Given the description of an element on the screen output the (x, y) to click on. 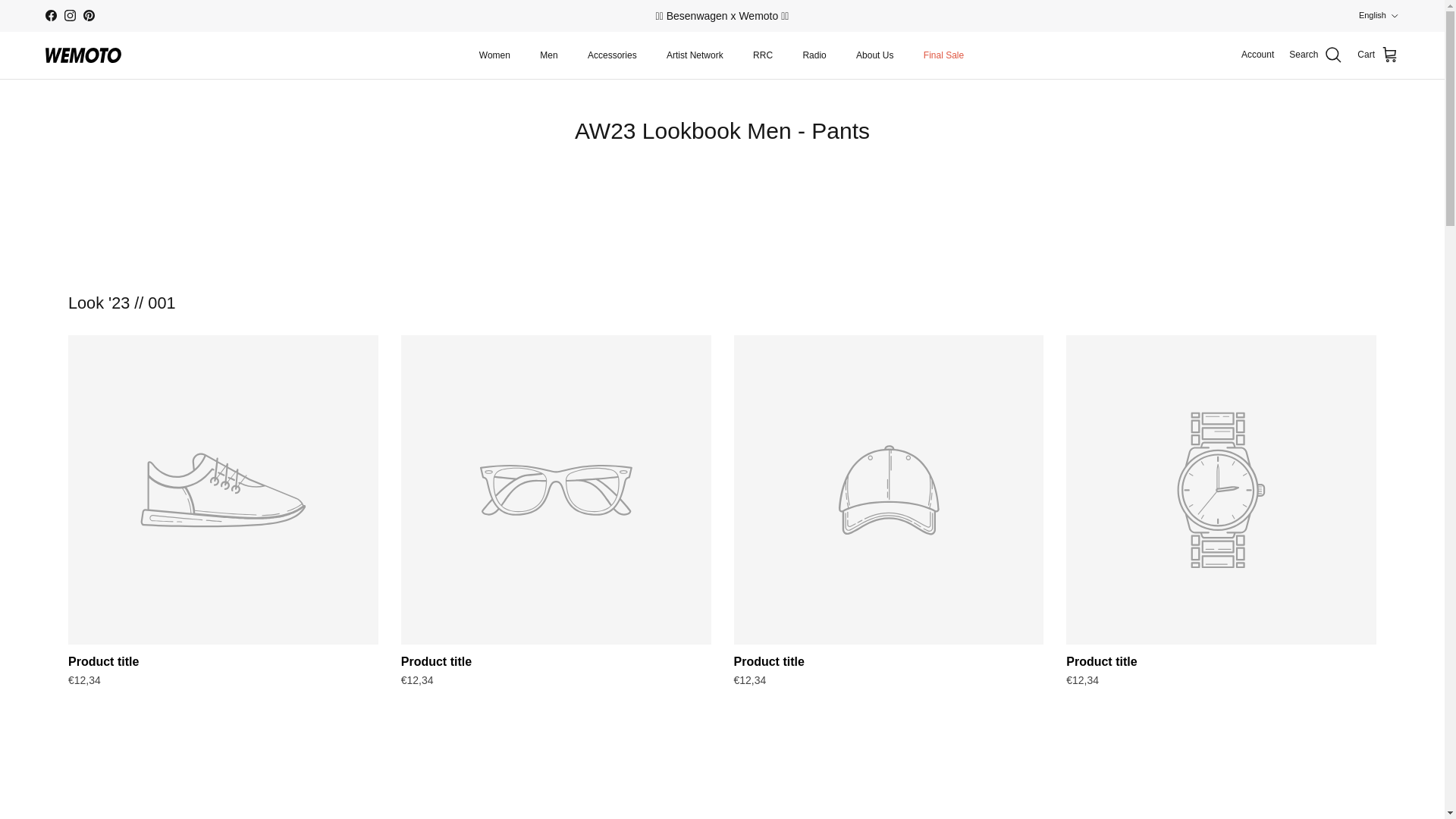
RRC (762, 54)
Women (494, 54)
Wemoto Clothing, Europe on Instagram (69, 15)
Radio (814, 54)
Artist Network (694, 54)
Account (1257, 54)
Wemoto Clothing, Europe on Facebook (50, 15)
Men (547, 54)
Instagram (69, 15)
Wemoto Clothing, Europe on Pinterest (88, 15)
Cart (1377, 55)
Final Sale (943, 54)
Pinterest (88, 15)
Wemoto Clothing, Europe (82, 54)
Besenwagen (722, 15)
